Given the description of an element on the screen output the (x, y) to click on. 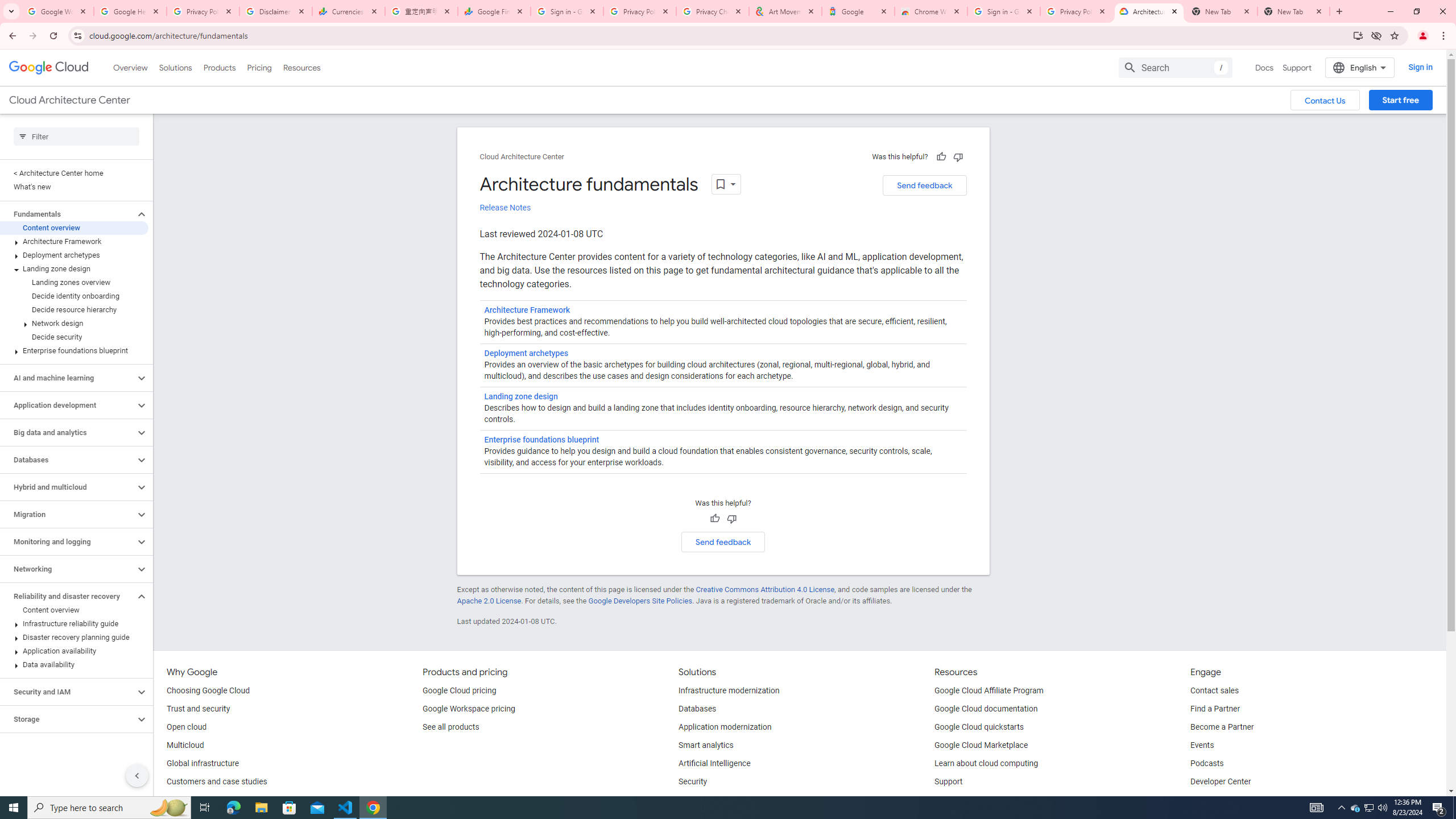
Google Workspace Admin Community (57, 11)
Landing zone design (74, 269)
Application availability (74, 650)
Google Cloud quickstarts (978, 727)
Google Cloud pricing (459, 691)
Monitoring and logging (67, 541)
Find a Partner (1215, 709)
Creative Commons Attribution 4.0 License (764, 589)
Trust and security (197, 709)
Landing zone design (520, 396)
Decide identity onboarding (74, 296)
Application development (67, 404)
Storage (67, 719)
Deployment archetypes (525, 353)
